Given the description of an element on the screen output the (x, y) to click on. 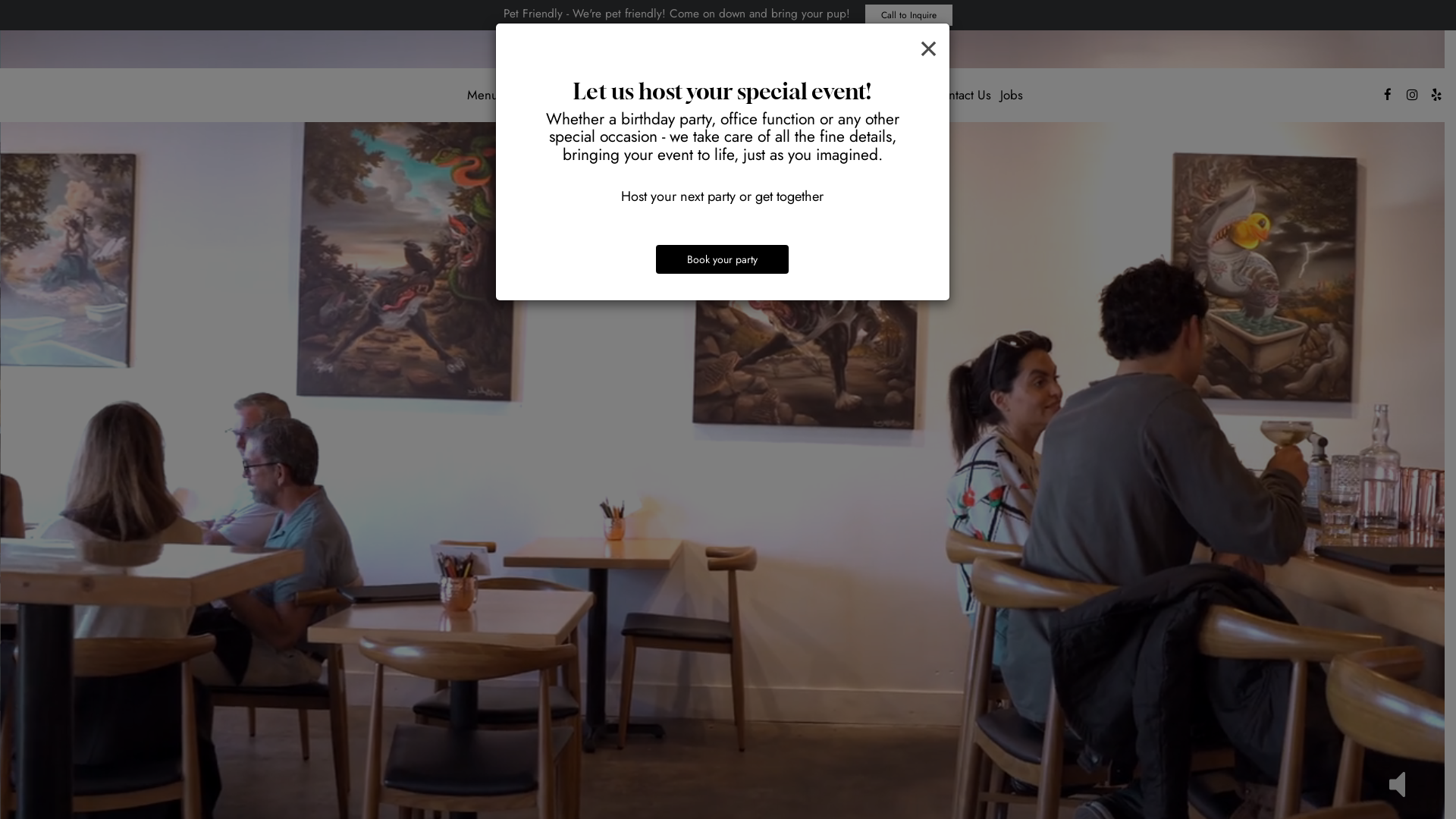
Parties Element type: text (859, 94)
Reserve Element type: text (810, 94)
Press Element type: text (608, 94)
Featured Artist Element type: text (545, 94)
Jobs Element type: text (1011, 94)
Menu Element type: text (482, 94)
Contact Us Element type: text (961, 94)
Haetae Element type: text (904, 94)
Call to Inquire Element type: text (908, 14)
Events Element type: text (649, 94)
Book your party Element type: text (721, 258)
